Given the description of an element on the screen output the (x, y) to click on. 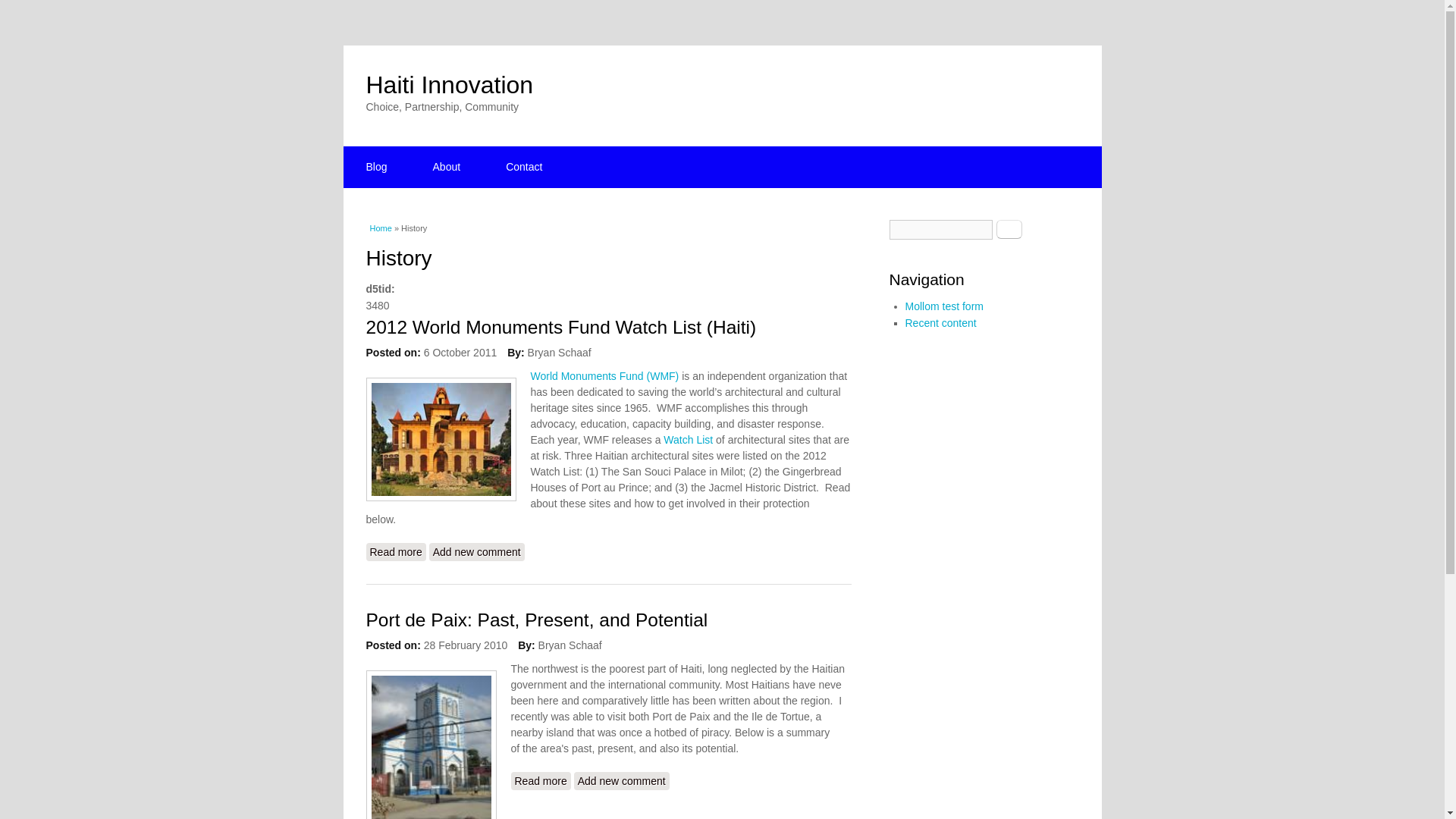
Add new comment (476, 551)
Port de Paix: Past, Present, and Potential (540, 781)
Add new comment (621, 781)
Haiti Innovation (448, 84)
Search (1008, 229)
Watch List (688, 439)
Add a new comment to this page. (621, 781)
Add a new comment to this page. (476, 551)
Home (448, 84)
About Haiti Innovation (446, 167)
